Given the description of an element on the screen output the (x, y) to click on. 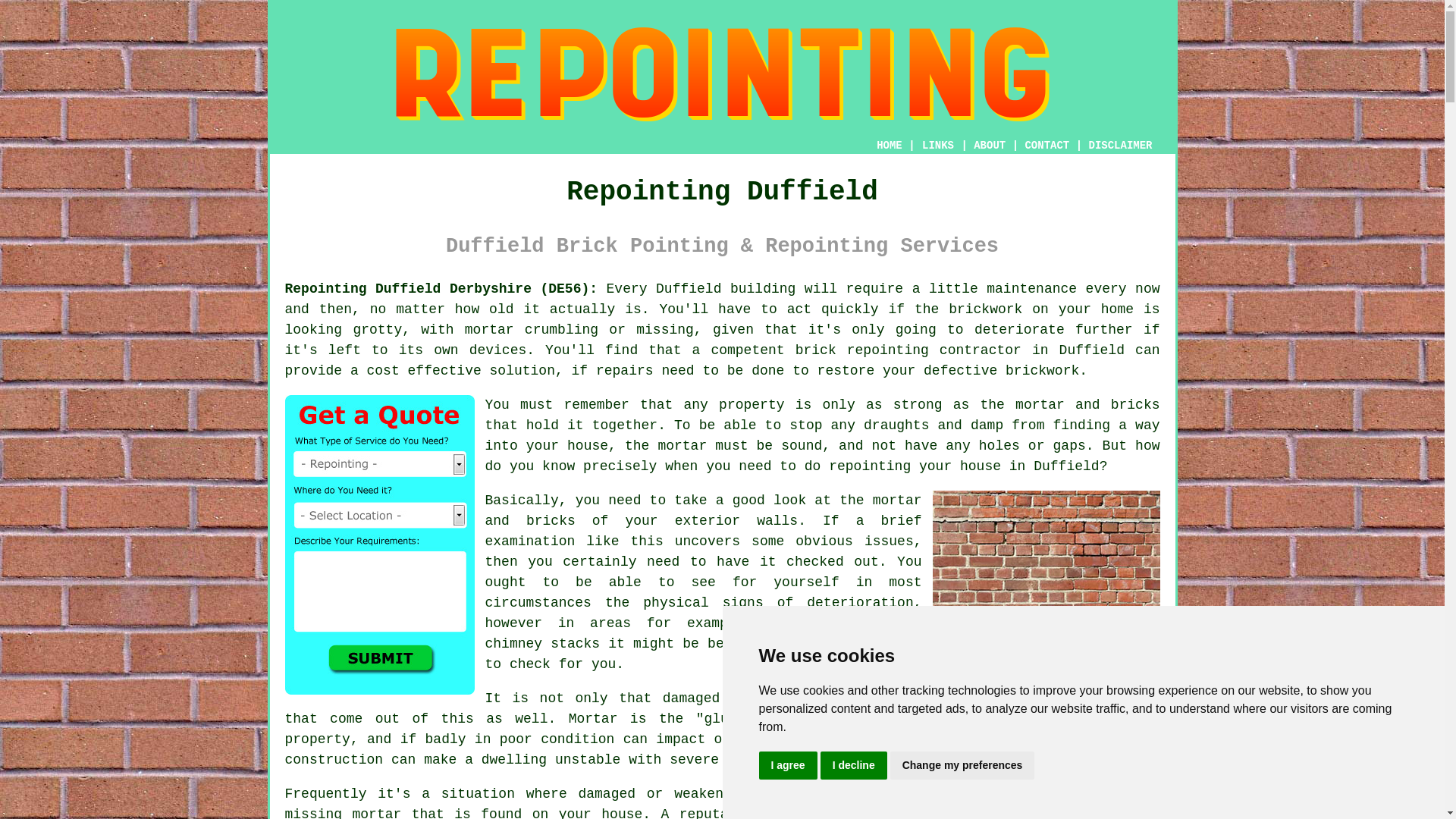
repointing (887, 350)
LINKS (938, 145)
Change my preferences (962, 765)
I decline (853, 765)
mortar (682, 445)
brick repointing (828, 812)
I agree (787, 765)
HOME (889, 145)
Repointing Duffield (722, 74)
